Given the description of an element on the screen output the (x, y) to click on. 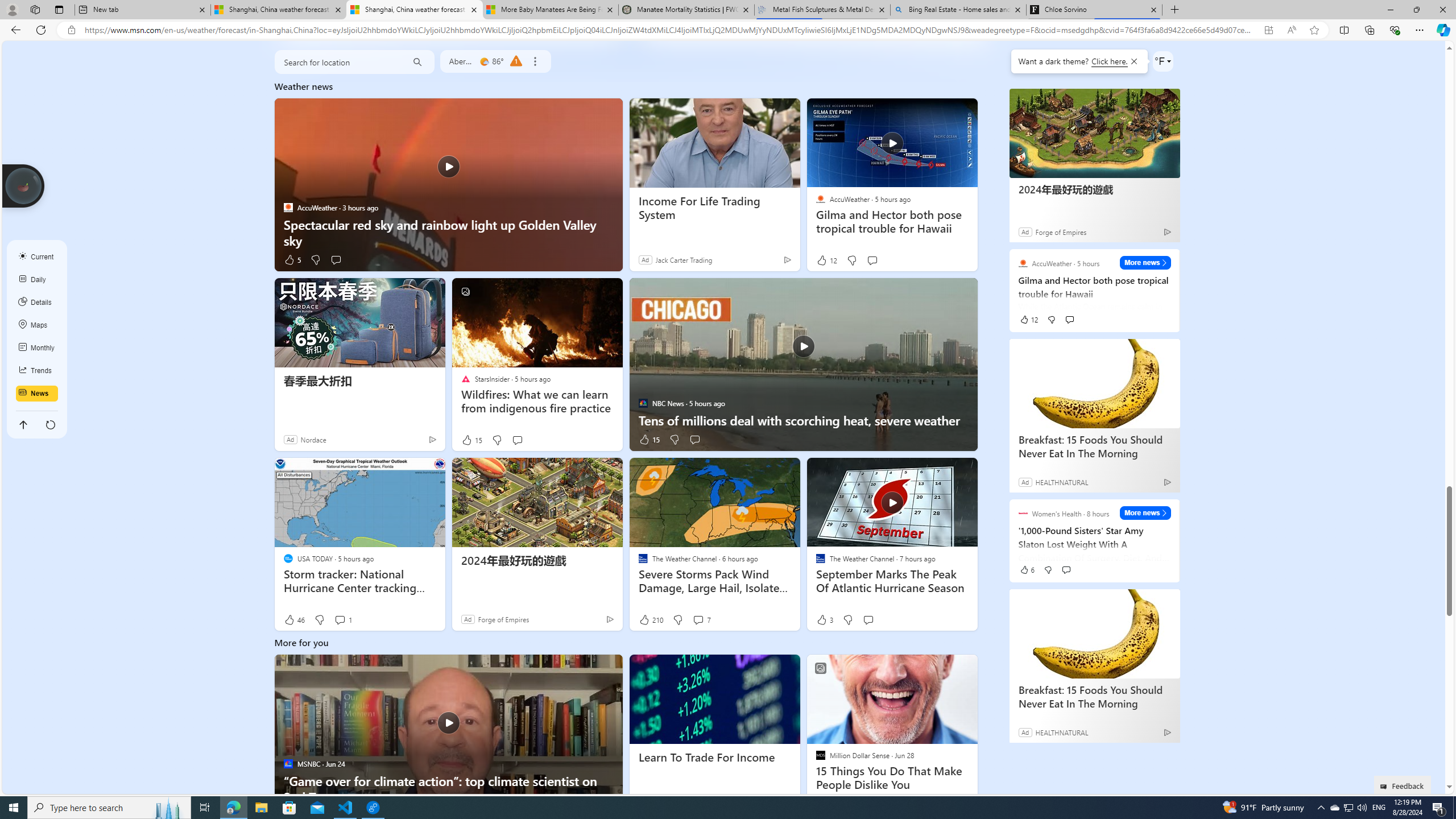
The Weather Channel (820, 558)
Details (37, 302)
3 Like (823, 619)
Remove location (534, 60)
Income For Life Trading System (713, 207)
Manatee Mortality Statistics | FWC (685, 9)
Current (37, 256)
